Given the description of an element on the screen output the (x, y) to click on. 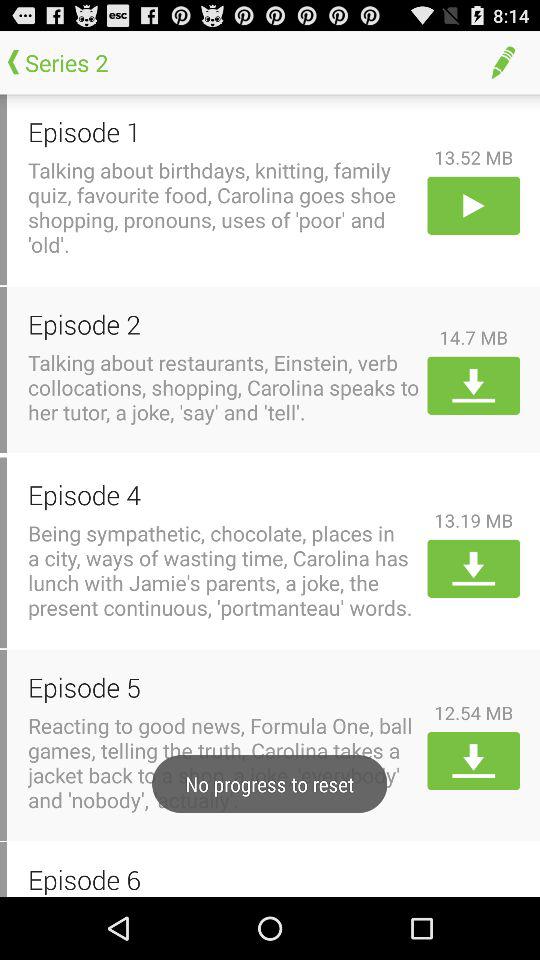
download episode onto phone (473, 385)
